Given the description of an element on the screen output the (x, y) to click on. 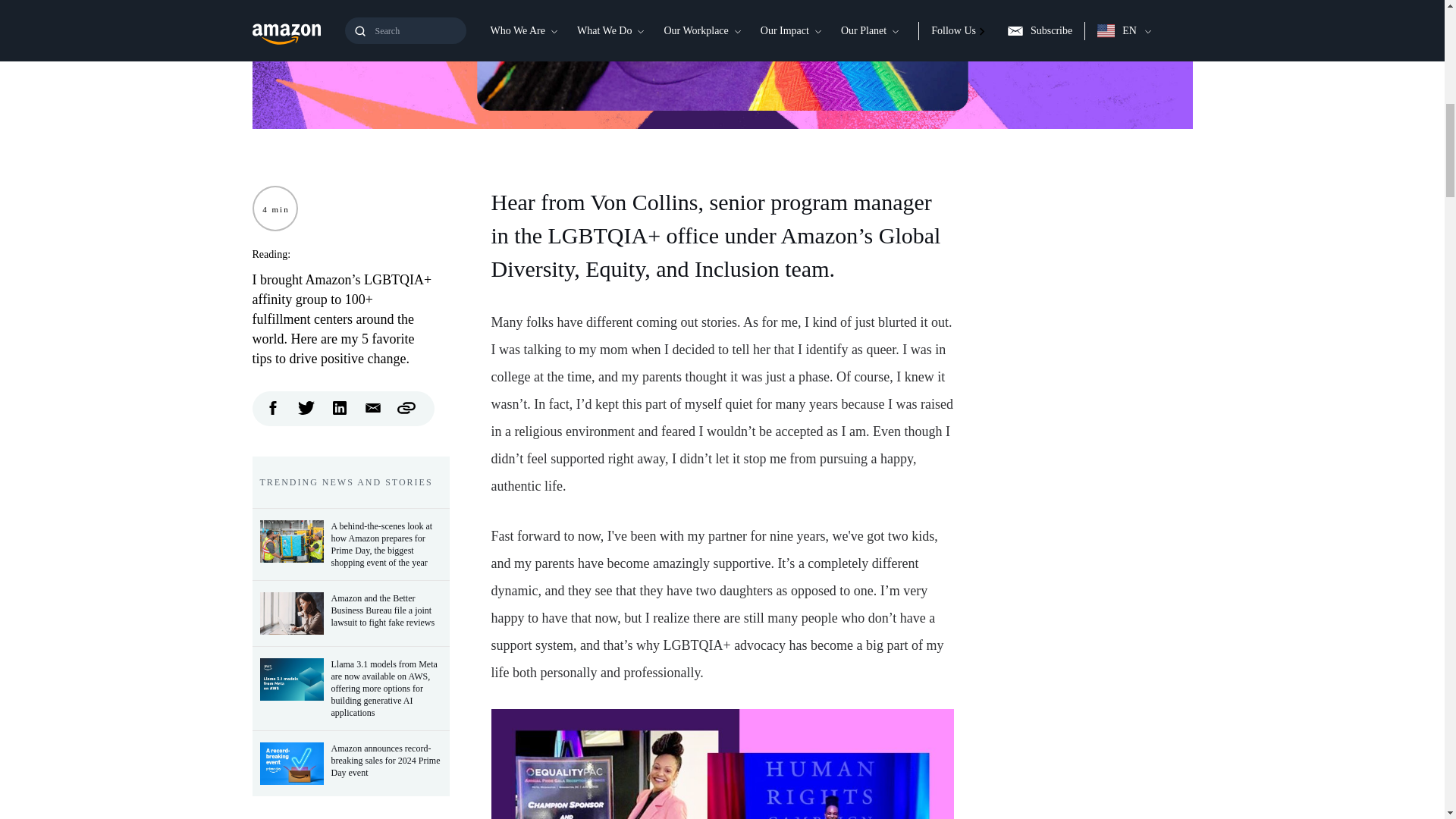
copy link (405, 407)
Twitter Share (306, 407)
LinkedIn Share (339, 407)
Facebook Share (272, 407)
email (372, 407)
